Given the description of an element on the screen output the (x, y) to click on. 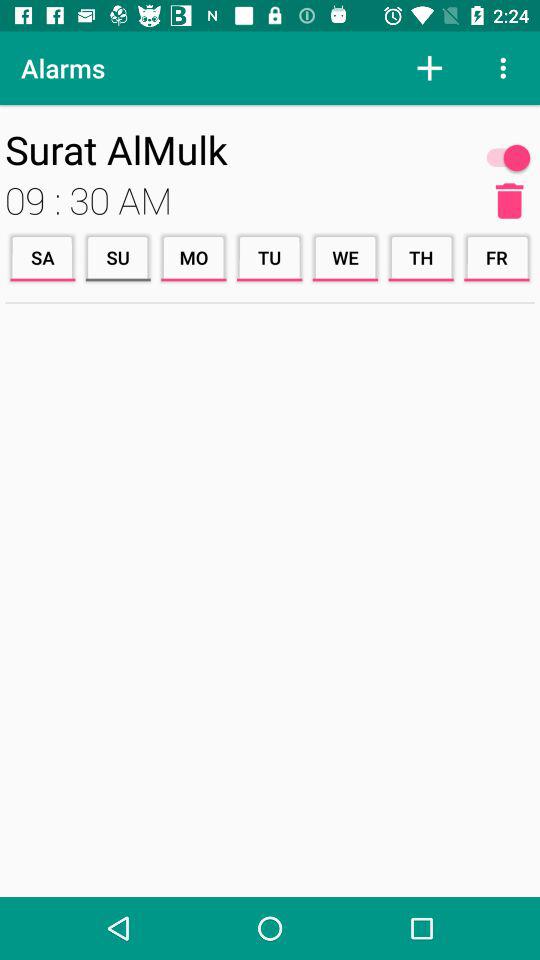
click we item (345, 257)
